Given the description of an element on the screen output the (x, y) to click on. 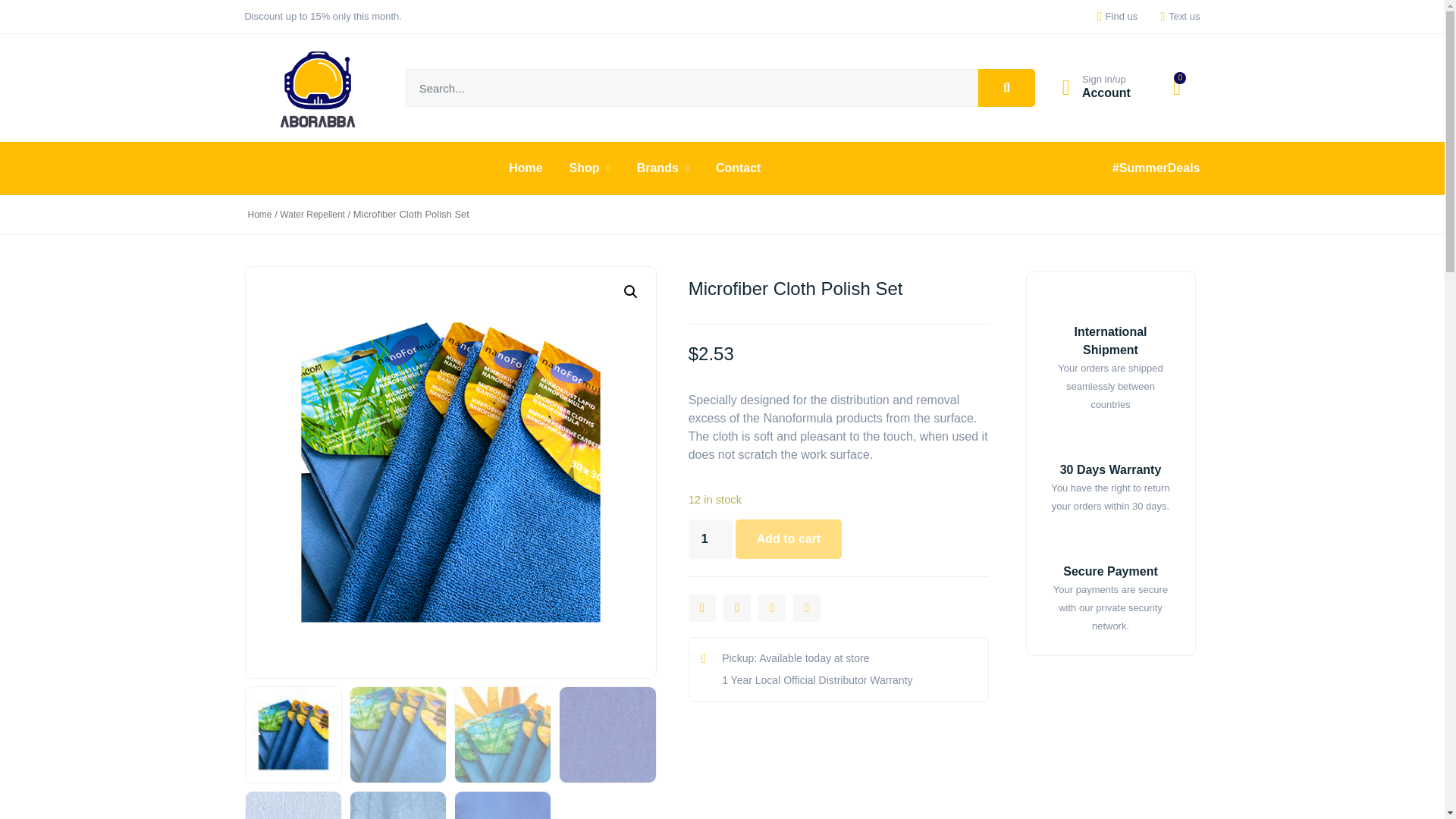
Text us (1174, 16)
1 (710, 538)
Search (692, 87)
Search (1006, 87)
0 (1176, 87)
Shop (589, 168)
Find us (1112, 16)
